Given the description of an element on the screen output the (x, y) to click on. 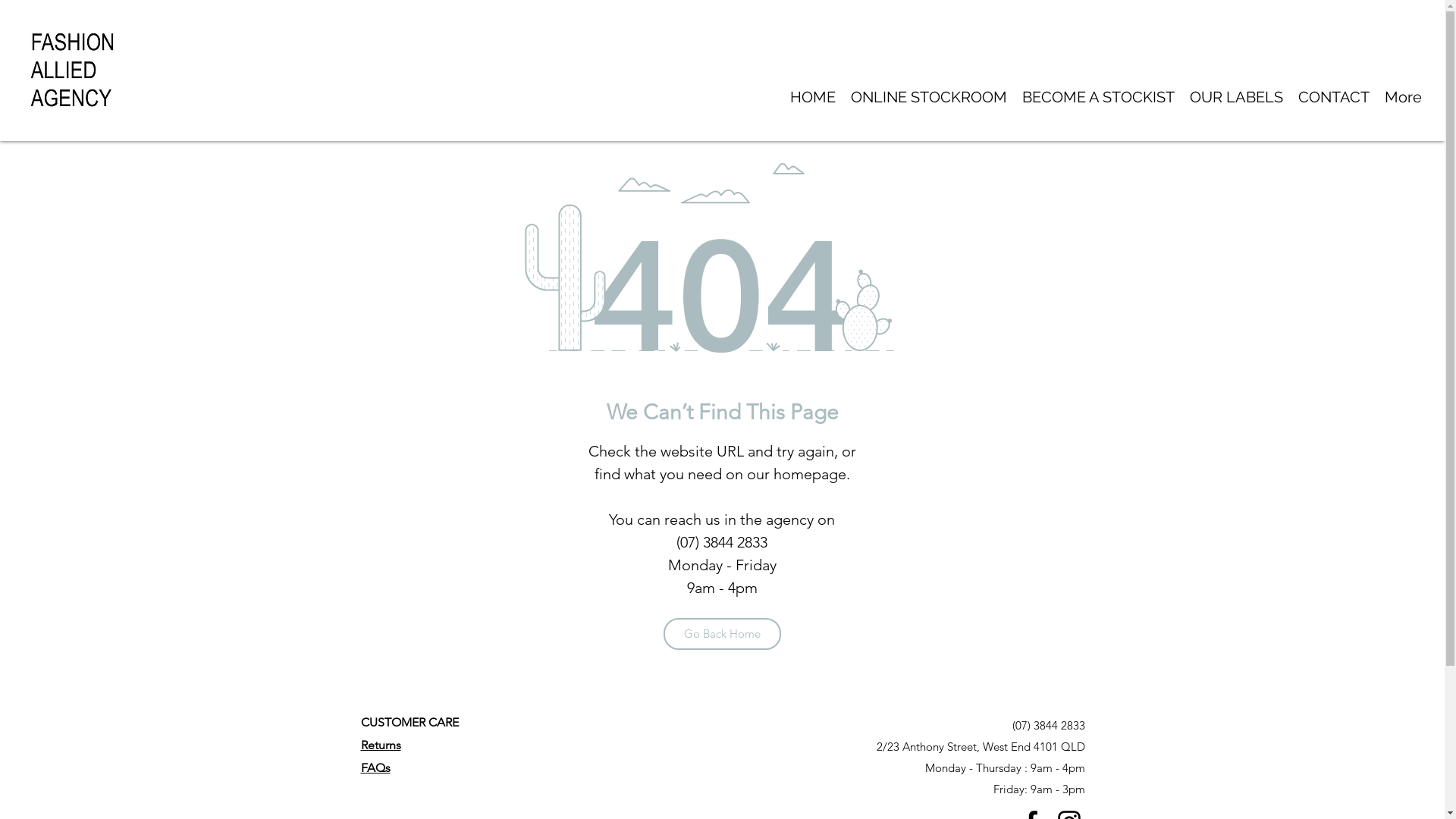
Go Back Home Element type: text (721, 633)
ONLINE STOCKROOM Element type: text (928, 97)
FAQs Element type: text (375, 767)
CONTACT Element type: text (1333, 97)
Returns Element type: text (380, 744)
HOME Element type: text (812, 97)
OUR LABELS Element type: text (1236, 97)
BECOME A STOCKIST Element type: text (1098, 97)
